Given the description of an element on the screen output the (x, y) to click on. 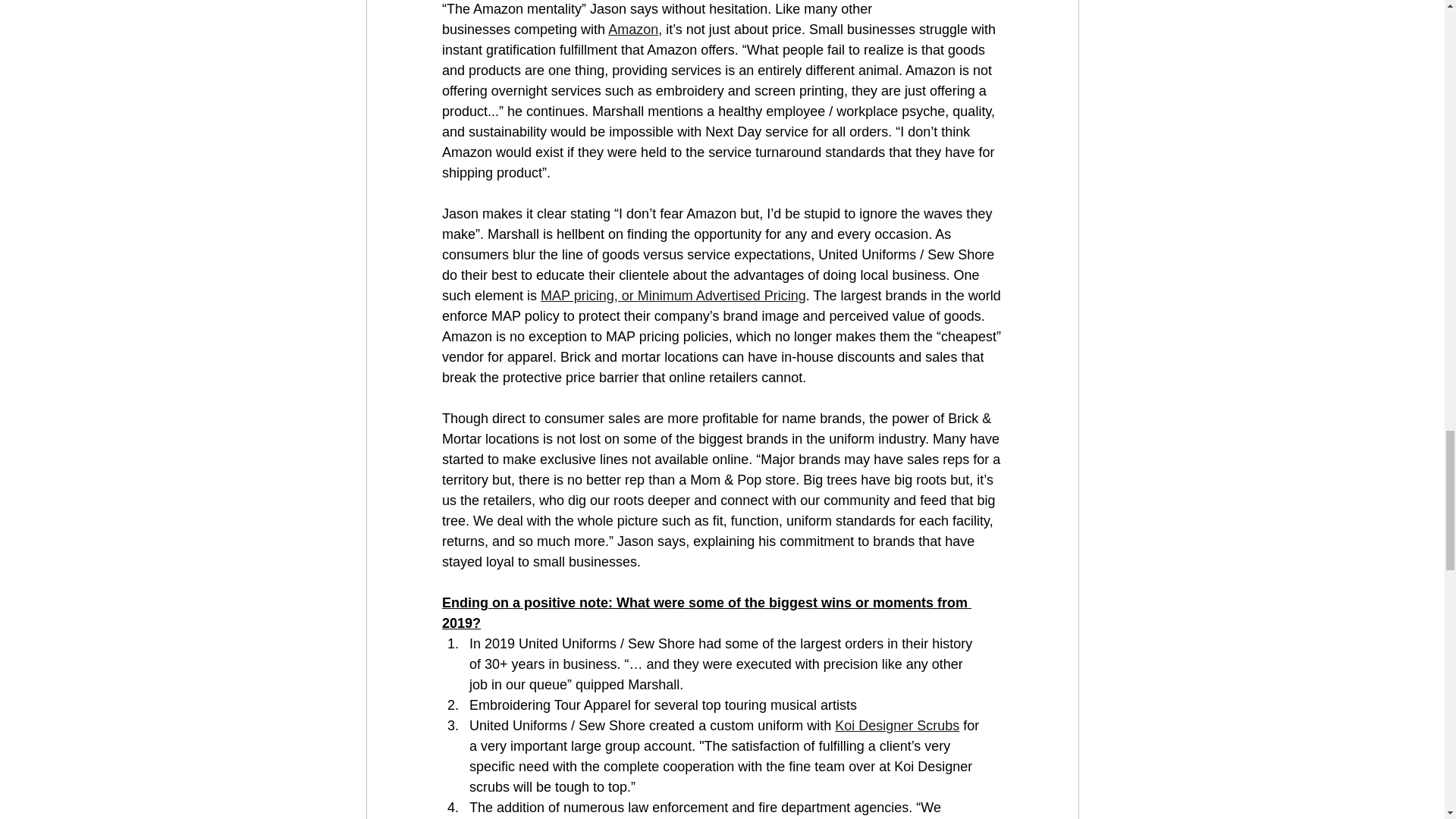
MAP pricing, or Minimum Advertised Pricing (673, 295)
Koi Designer Scrubs (896, 725)
Amazon (633, 29)
